Given the description of an element on the screen output the (x, y) to click on. 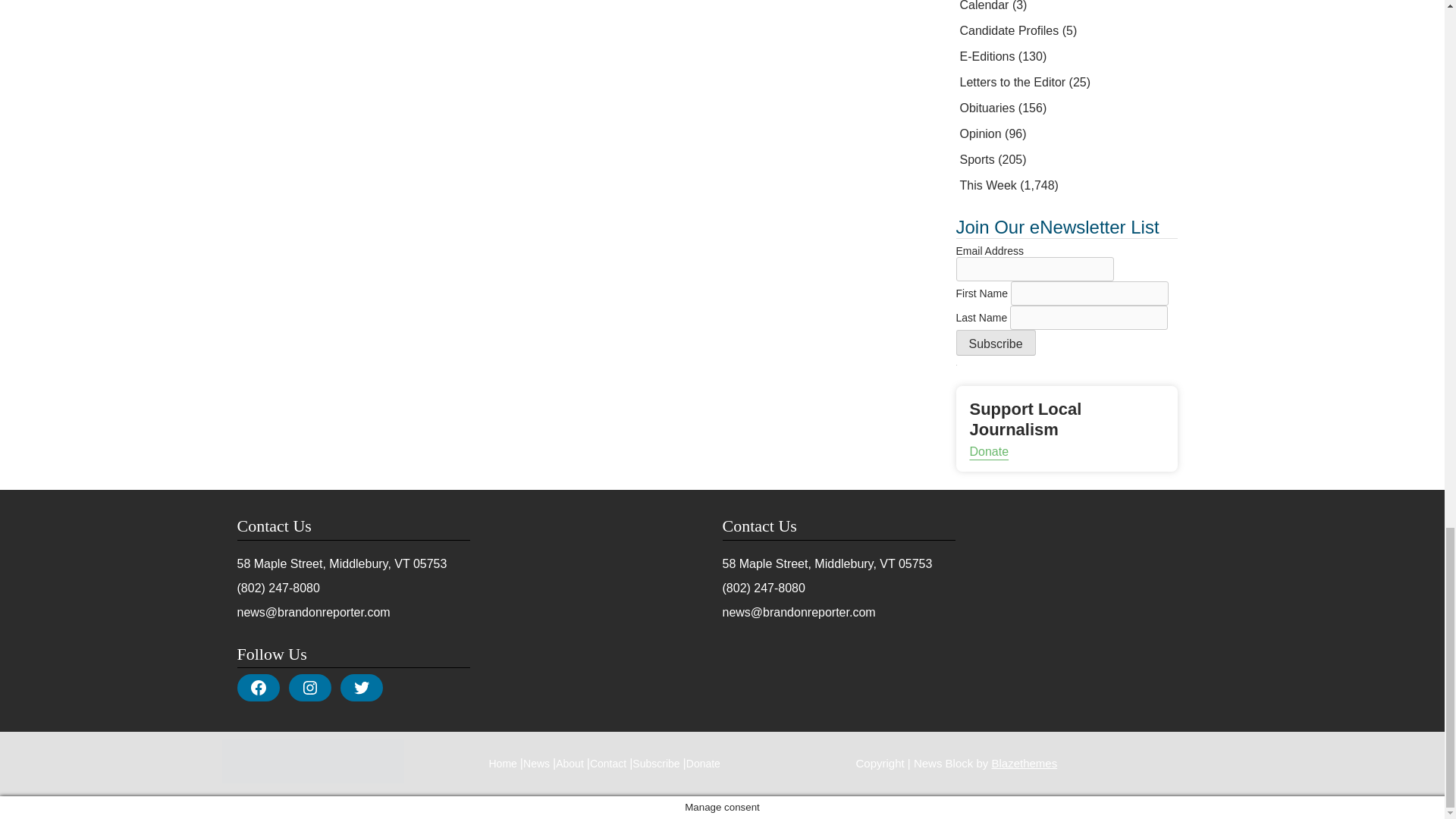
Subscribe (995, 342)
